Given the description of an element on the screen output the (x, y) to click on. 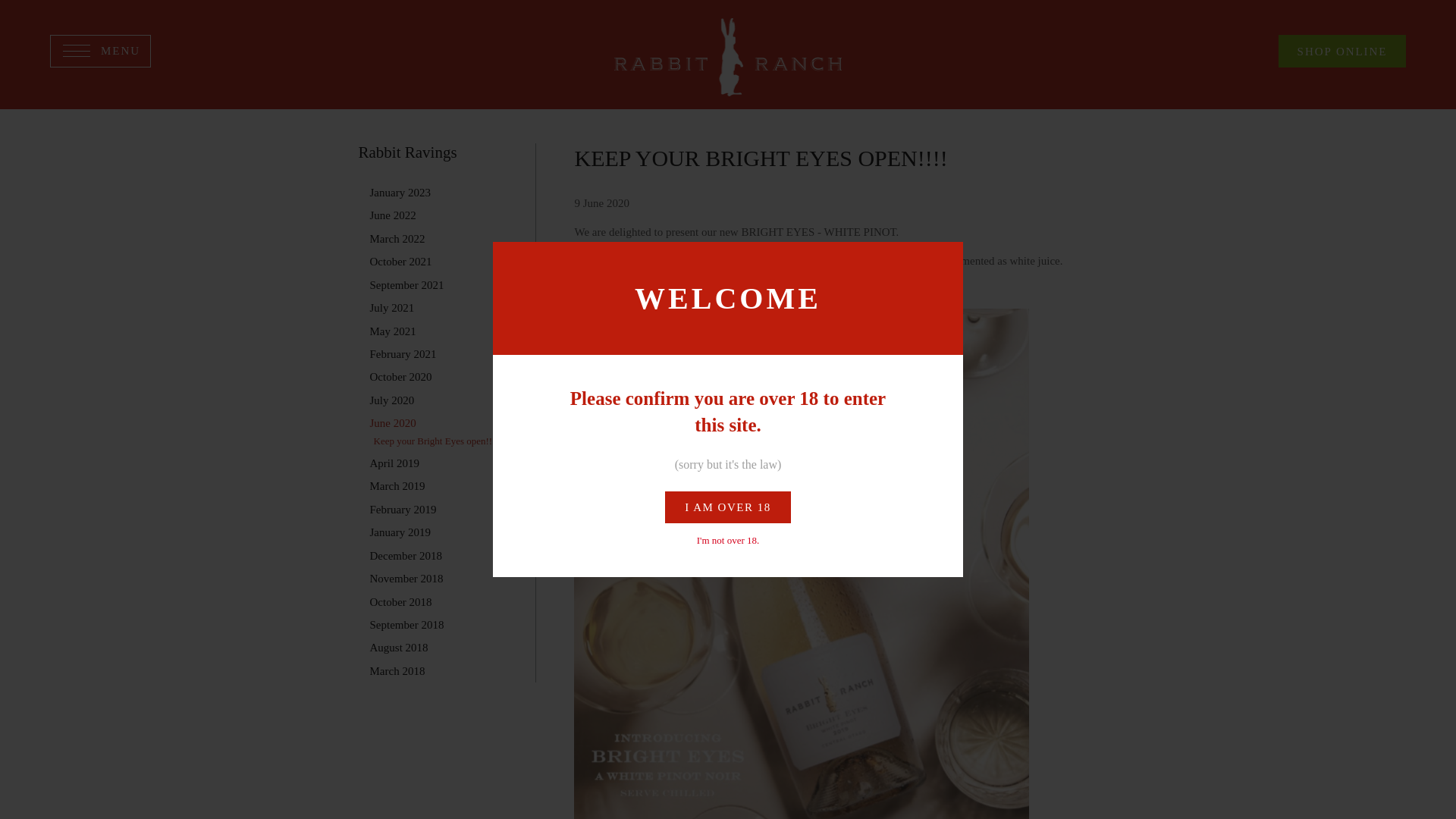
Rabbit Ranch (727, 57)
I'm not over 18. (728, 540)
SHOP ONLINE (1342, 51)
June 2022 (392, 215)
MENU (100, 51)
January 2023 (399, 192)
I AM OVER 18 (727, 507)
